Given the description of an element on the screen output the (x, y) to click on. 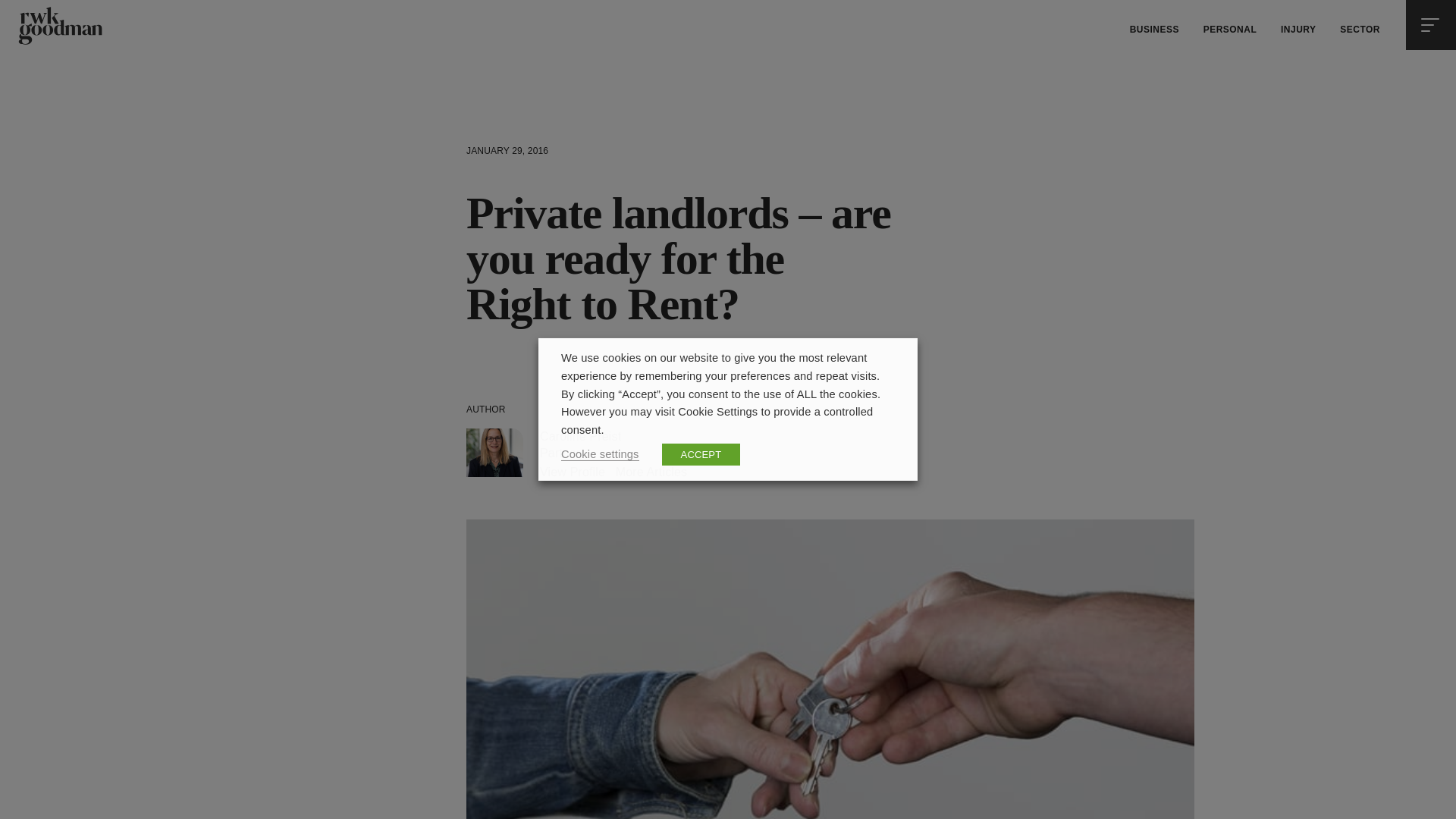
BUSINESS (1154, 30)
SECTOR (1359, 30)
Royds Withy King (59, 25)
INJURY (1297, 30)
PERSONAL (1230, 30)
